Given the description of an element on the screen output the (x, y) to click on. 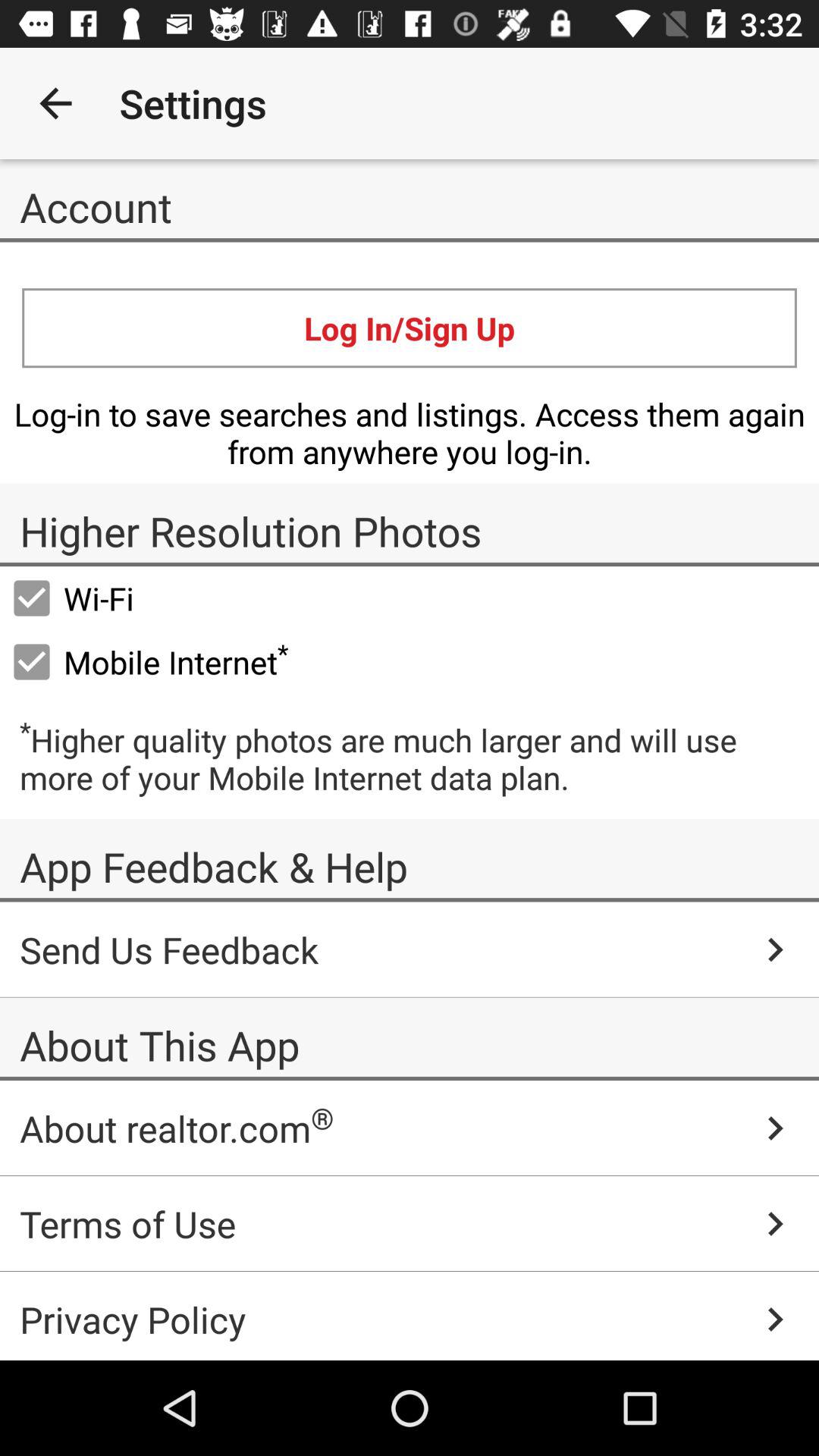
turn on the send us feedback icon (409, 949)
